Given the description of an element on the screen output the (x, y) to click on. 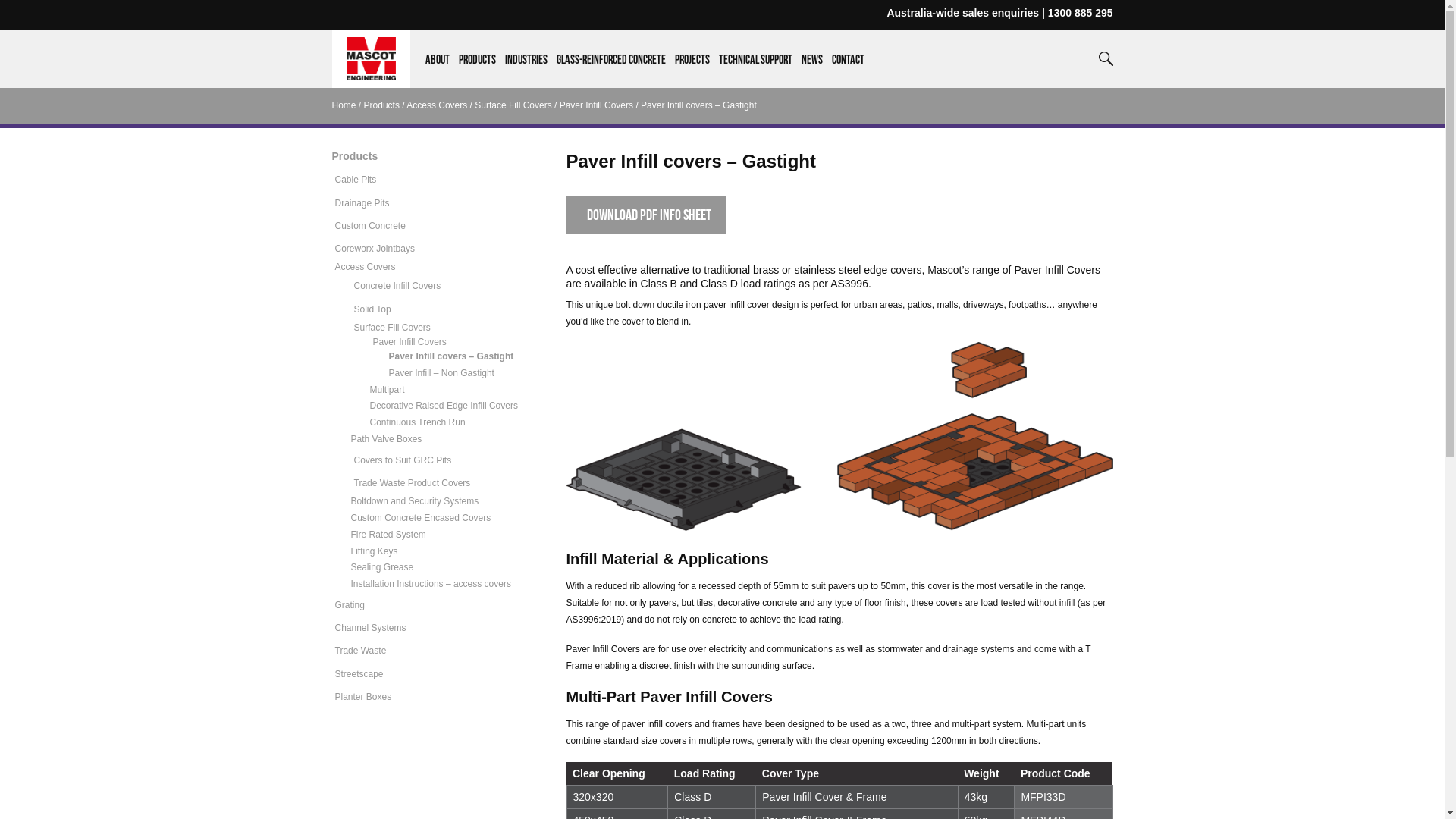
Home Element type: text (344, 105)
1300 885 295 Element type: text (1080, 12)
DOWNLOAD PDF INFO SHEET Element type: text (645, 214)
Coreworx Jointbays Element type: text (374, 248)
About Element type: text (437, 70)
Covers to Suit GRC Pits Element type: text (402, 460)
Continuous Trench Run Element type: text (417, 422)
Lifting Keys Element type: text (373, 551)
Grating Element type: text (349, 604)
Products Element type: text (355, 156)
Subscribe Element type: text (721, 556)
Custom Concrete Encased Covers Element type: text (420, 517)
Solid Top Element type: text (371, 308)
Trade Waste Product Covers Element type: text (411, 482)
Industries Element type: text (526, 70)
Streetscape Element type: text (359, 673)
Trade Waste Element type: text (360, 650)
Access Covers Element type: text (365, 266)
Sealing Grease Element type: text (381, 566)
Concrete Infill Covers Element type: text (396, 285)
Decorative Raised Edge Infill Covers Element type: text (443, 405)
Multipart Element type: text (387, 389)
Channel Systems Element type: text (370, 627)
Fire Rated System Element type: text (387, 534)
News Element type: text (811, 70)
Access Covers Element type: text (436, 105)
Planter Boxes Element type: text (363, 696)
Glass-Reinforced Concrete Element type: text (610, 70)
Cable Pits Element type: text (355, 179)
Products Element type: text (476, 70)
Subscribe Element type: text (721, 507)
Paver Infill Covers Element type: text (409, 341)
Boltdown and Security Systems Element type: text (414, 500)
Products Element type: text (381, 105)
Contact Element type: text (847, 70)
Paver Infill Covers Element type: text (596, 105)
Path Valve Boxes Element type: text (385, 438)
Surface Fill Covers Element type: text (512, 105)
Surface Fill Covers Element type: text (391, 327)
Technical support Element type: text (755, 70)
Custom Concrete Element type: text (370, 225)
Drainage Pits Element type: text (362, 202)
Projects Element type: text (691, 70)
